Given the description of an element on the screen output the (x, y) to click on. 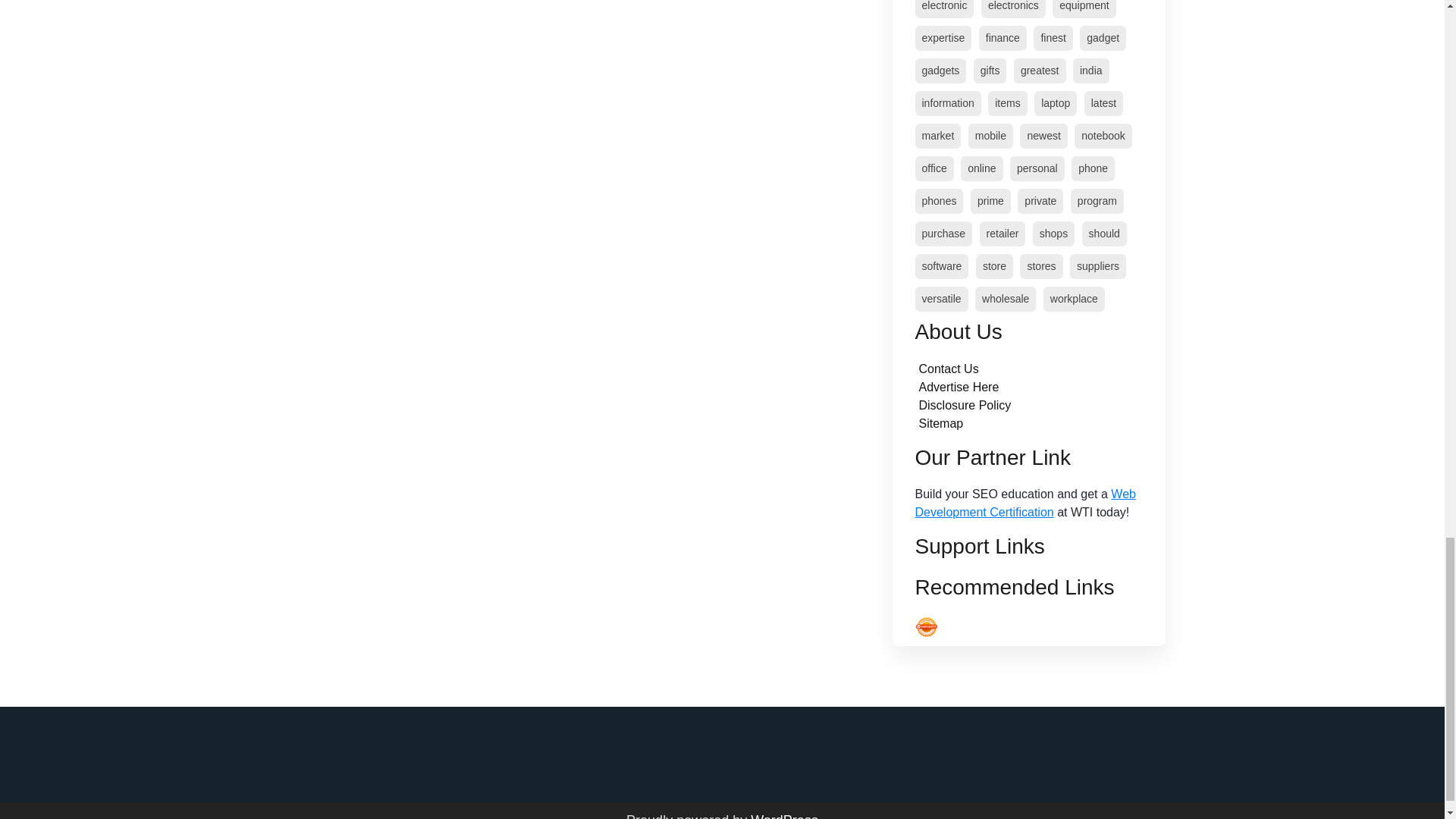
Seedbacklink (925, 626)
